Given the description of an element on the screen output the (x, y) to click on. 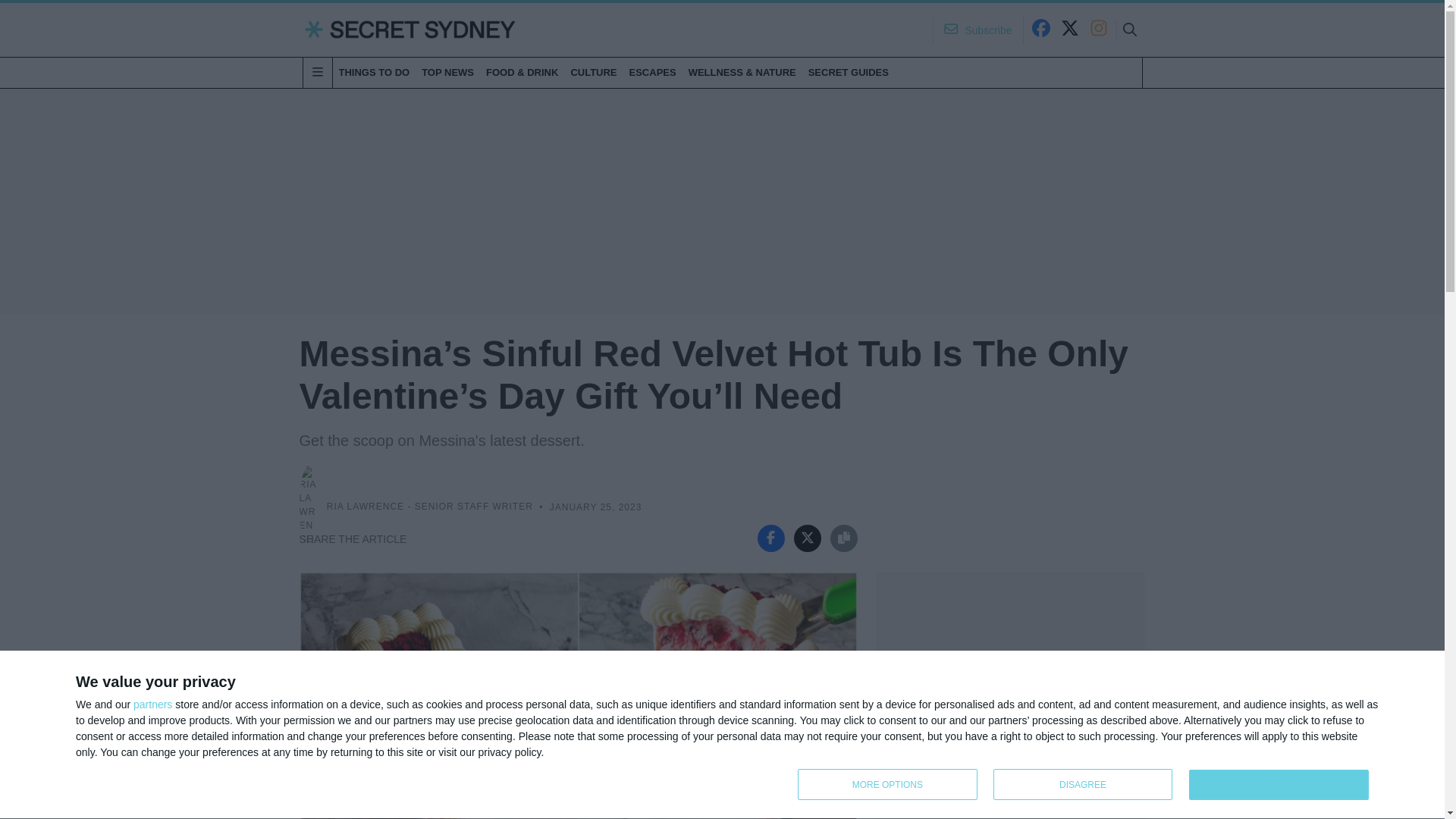
RIA LAWRENCE (365, 507)
DISAGREE (1082, 784)
MORE OPTIONS (886, 784)
CULTURE (592, 72)
AGREE (1278, 784)
THINGS TO DO (373, 72)
TOP NEWS (448, 72)
partners (1086, 785)
SECRET GUIDES (152, 704)
ESCAPES (848, 72)
